Given the description of an element on the screen output the (x, y) to click on. 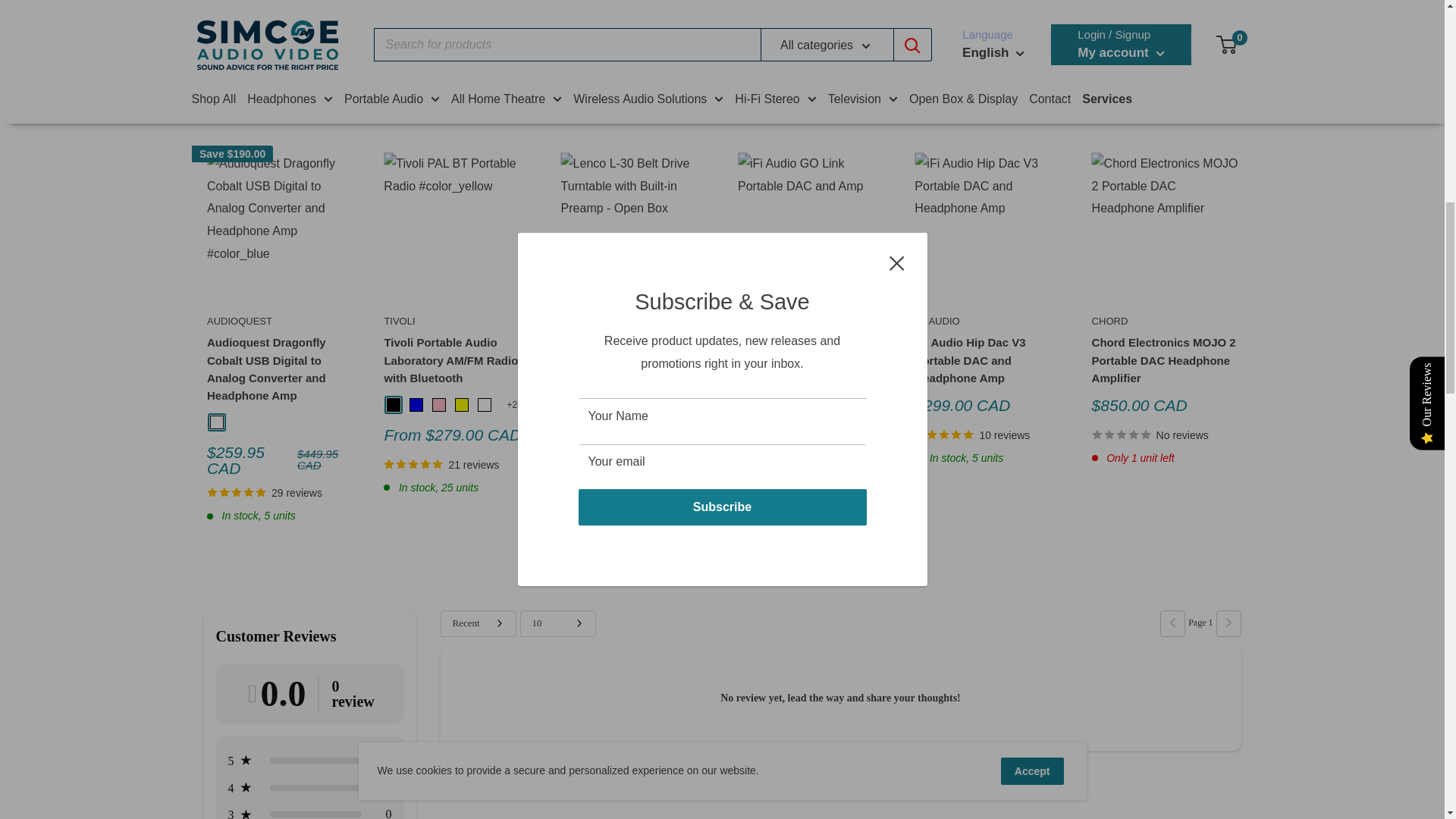
Black (393, 404)
Blue (416, 404)
Chord Electronics MOJO 2 Portable DAC Headphone Amplifier (1163, 360)
White (484, 404)
iFi Audio Hip Dac V3 Portable DAC and Headphone Amp (987, 360)
Wood (592, 404)
Black (569, 404)
Default Title (215, 422)
Yellow (461, 404)
Pink (438, 404)
iFi Audio GO Link Portable DAC and Amp (809, 352)
